Given the description of an element on the screen output the (x, y) to click on. 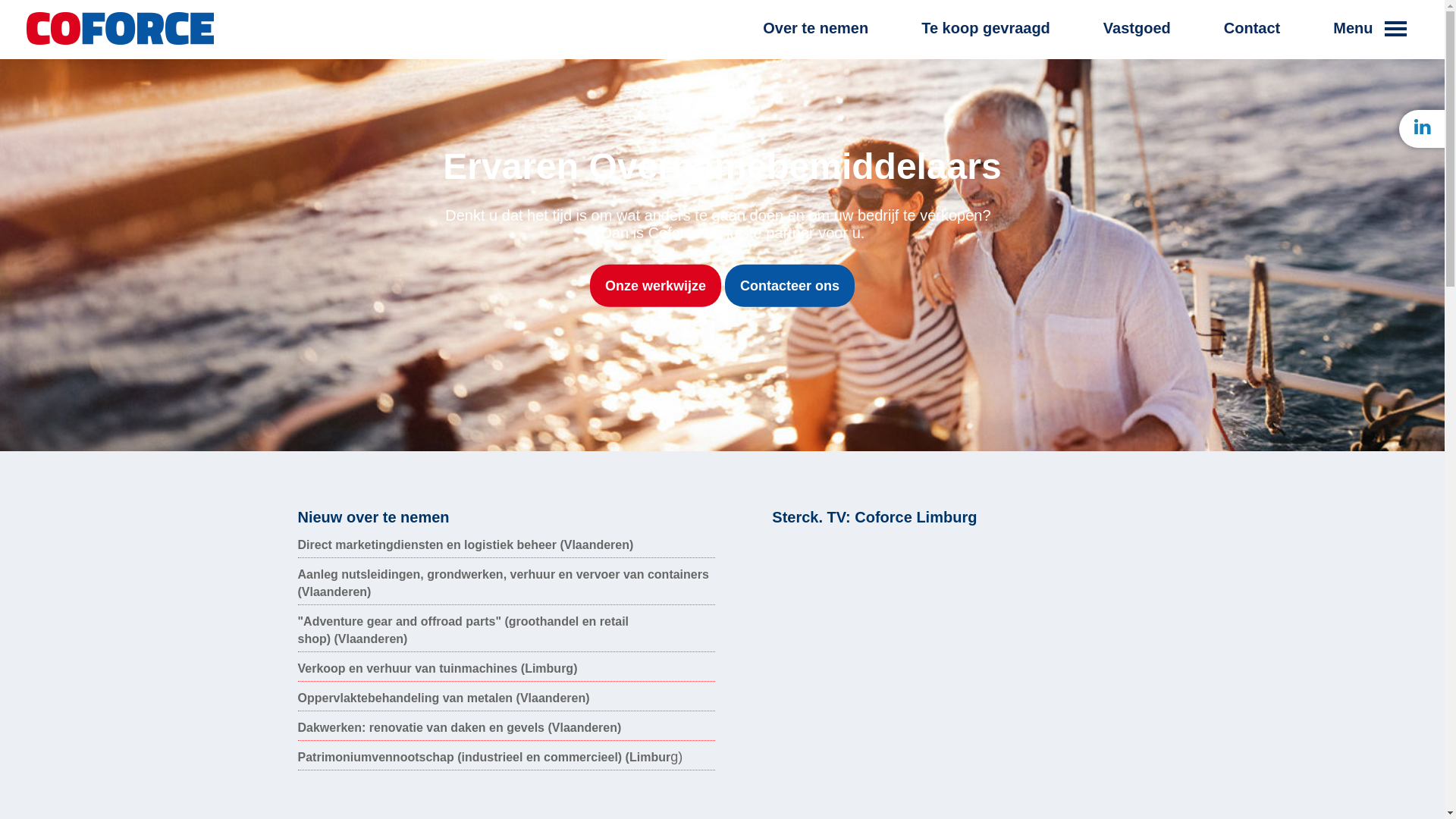
Onze werkwijze Element type: text (655, 285)
Vastgoed Element type: text (1136, 39)
Menu Element type: text (1369, 39)
Verkoop en verhuur van tuinmachines (Limburg) Element type: text (437, 668)
Contacteer ons Element type: text (789, 285)
Patrimoniumvennootschap (industrieel en commercieel) (Limbur Element type: text (483, 756)
Dakwerken: renovatie van daken en gevels (Vlaanderen) Element type: text (459, 727)
Over te nemen Element type: text (815, 39)
Contact Element type: text (1251, 39)
Direct marketingdiensten en logistiek beheer (Vlaanderen) Element type: text (465, 544)
Te koop gevraagd Element type: text (985, 39)
Oppervlaktebehandeling van metalen (Vlaanderen) Element type: text (443, 697)
